Given the description of an element on the screen output the (x, y) to click on. 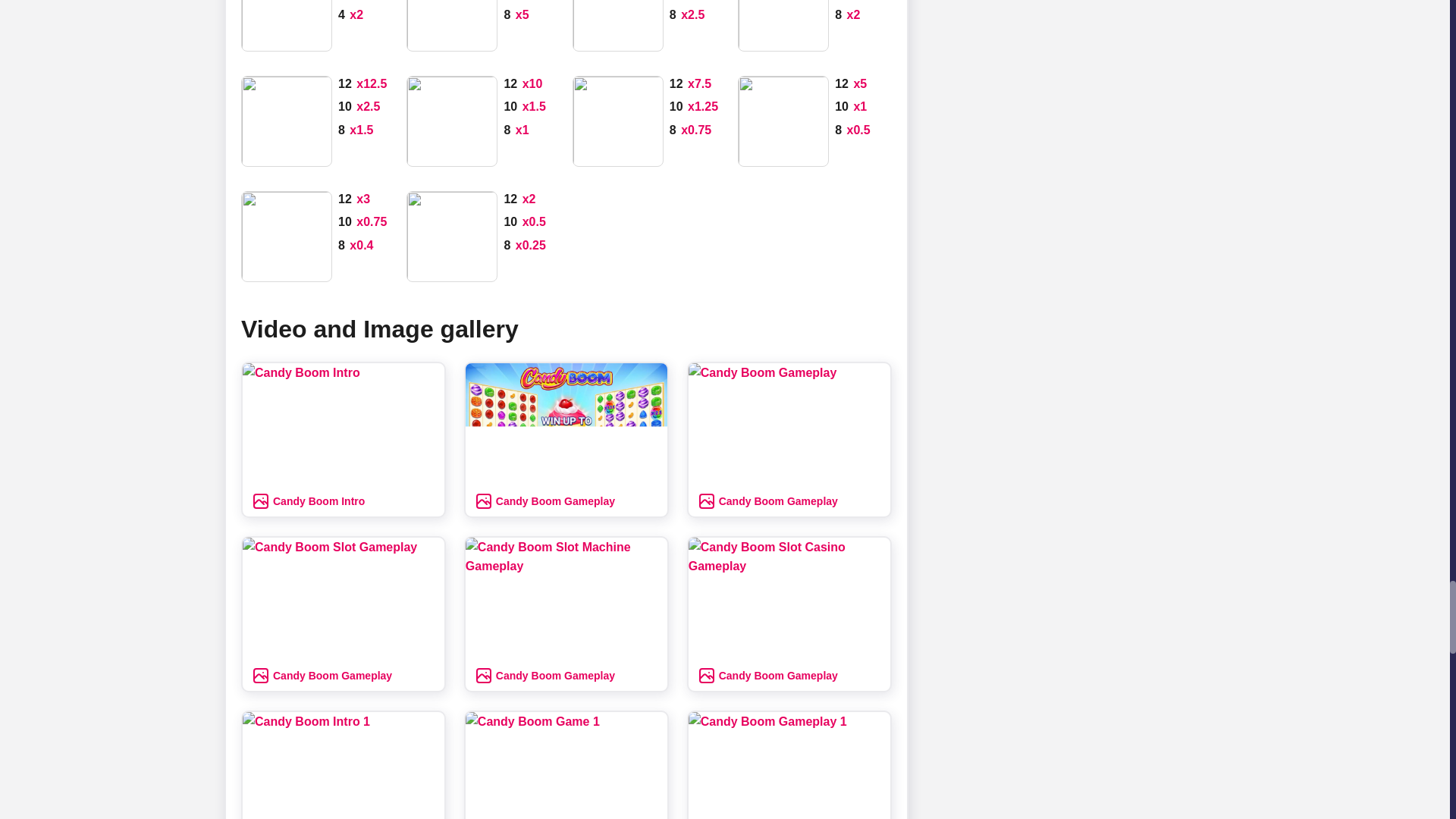
Candy Boom Slot Casino Gameplay (788, 598)
Candy Boom Game (565, 424)
Candy Boom Intro 1 (343, 765)
Candy Boom Intro (343, 424)
Candy Boom Gameplay 1 (788, 765)
Candy Boom Game 1 (565, 765)
Candy Boom Slot Machine Gameplay (565, 598)
Candy Boom Gameplay (788, 424)
Candy Boom Slot Gameplay (343, 598)
